Given the description of an element on the screen output the (x, y) to click on. 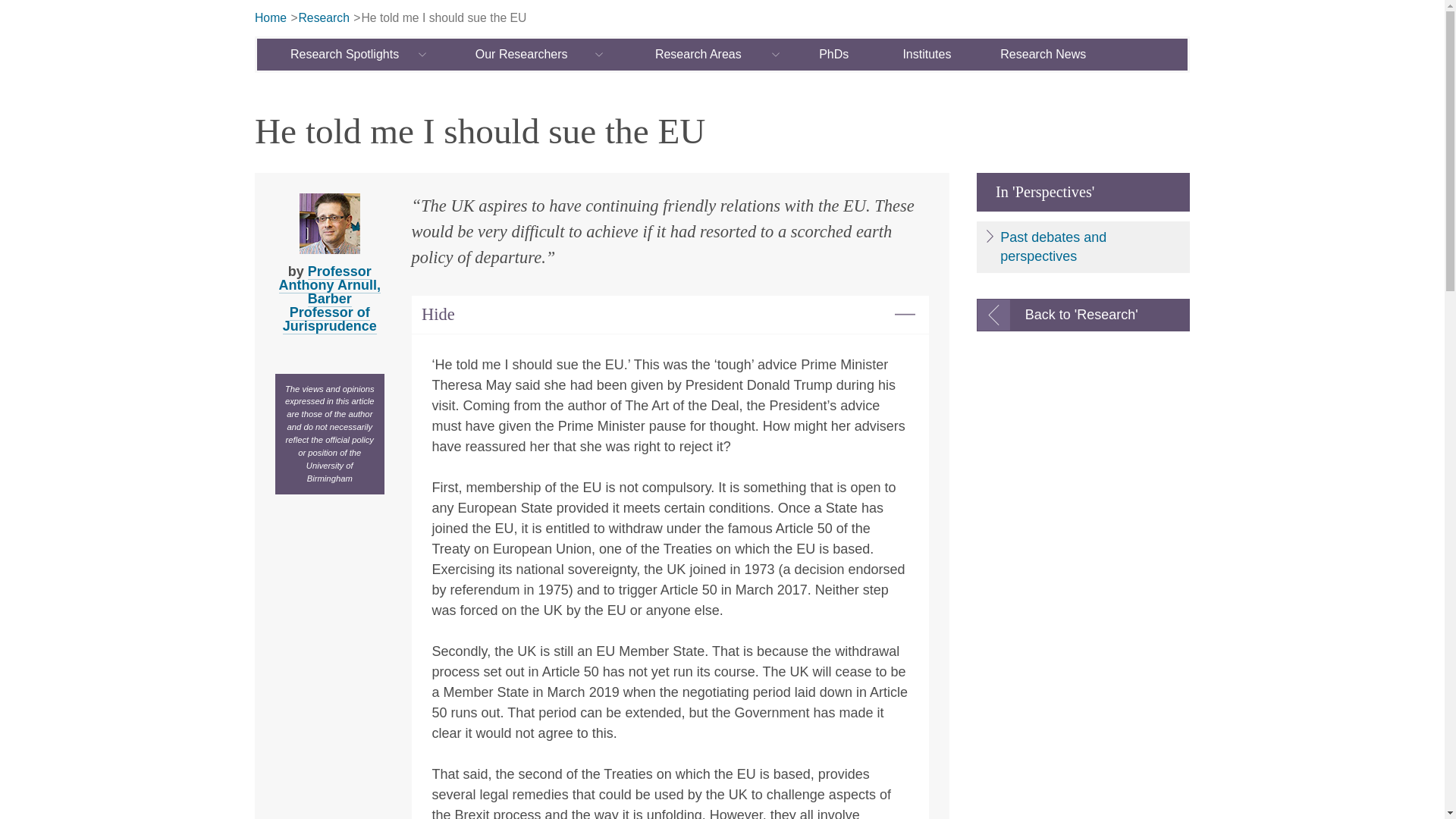
Home (270, 18)
Research (323, 18)
Research Areas (698, 54)
Our Researchers (521, 54)
He told me I should sue the EU (443, 18)
Research Spotlights (345, 54)
